Given the description of an element on the screen output the (x, y) to click on. 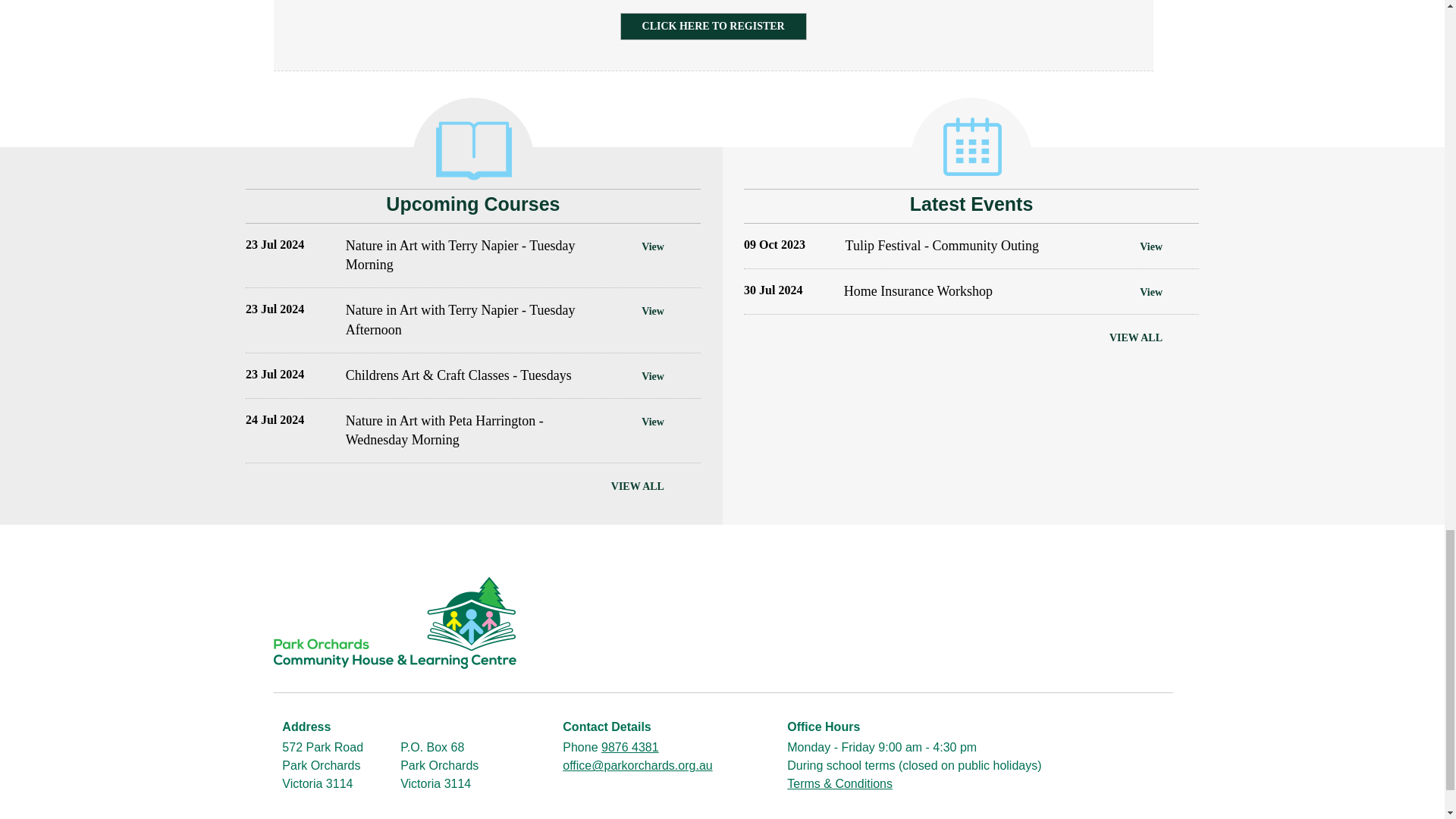
CLICK HERE TO REGISTER (713, 26)
